Given the description of an element on the screen output the (x, y) to click on. 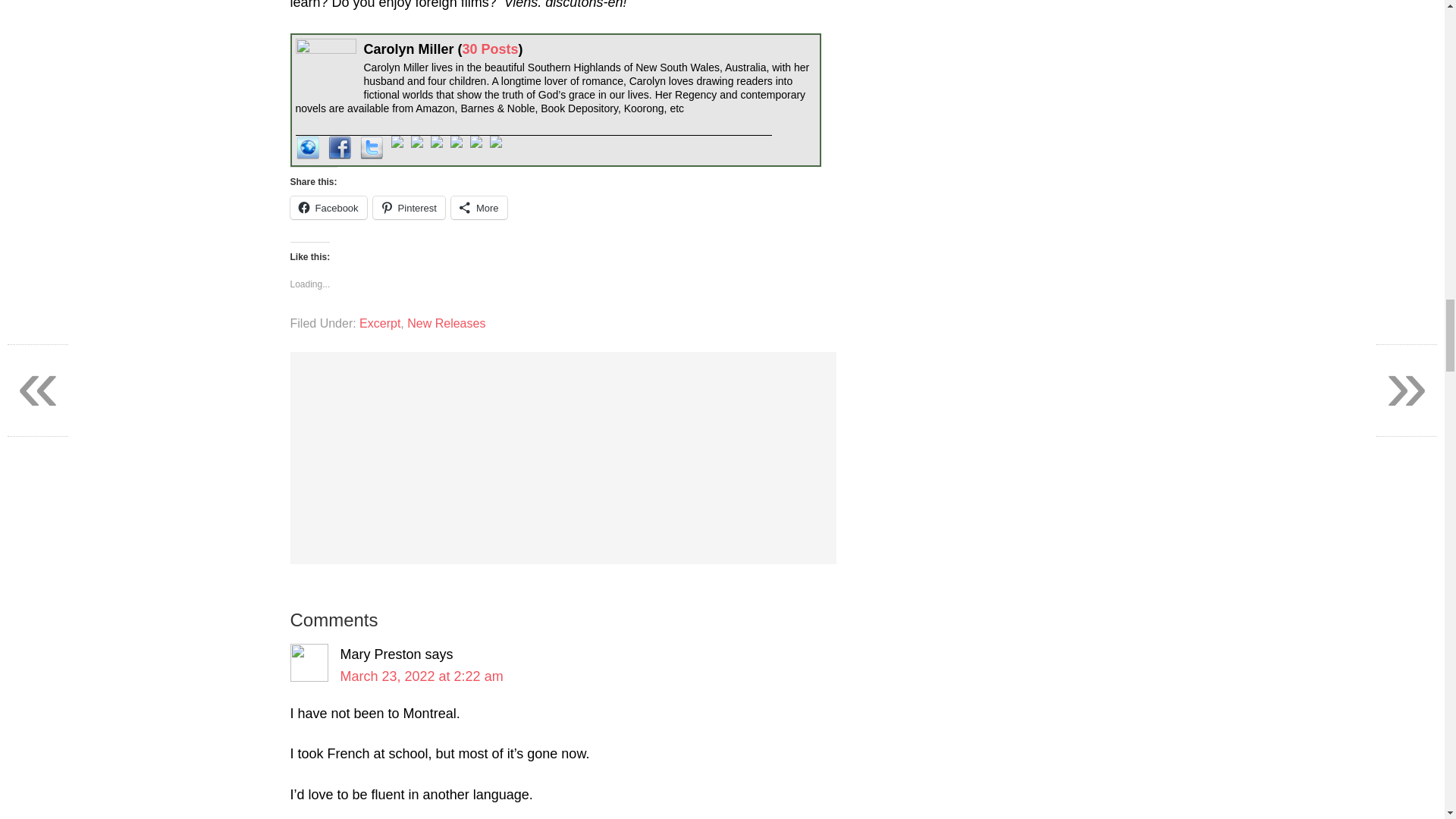
Excerpt (379, 323)
30 Posts (490, 48)
Click to share on Pinterest (408, 207)
Facebook (327, 207)
More (478, 207)
New Releases (445, 323)
Click to share on Facebook (327, 207)
Pinterest (408, 207)
